Given the description of an element on the screen output the (x, y) to click on. 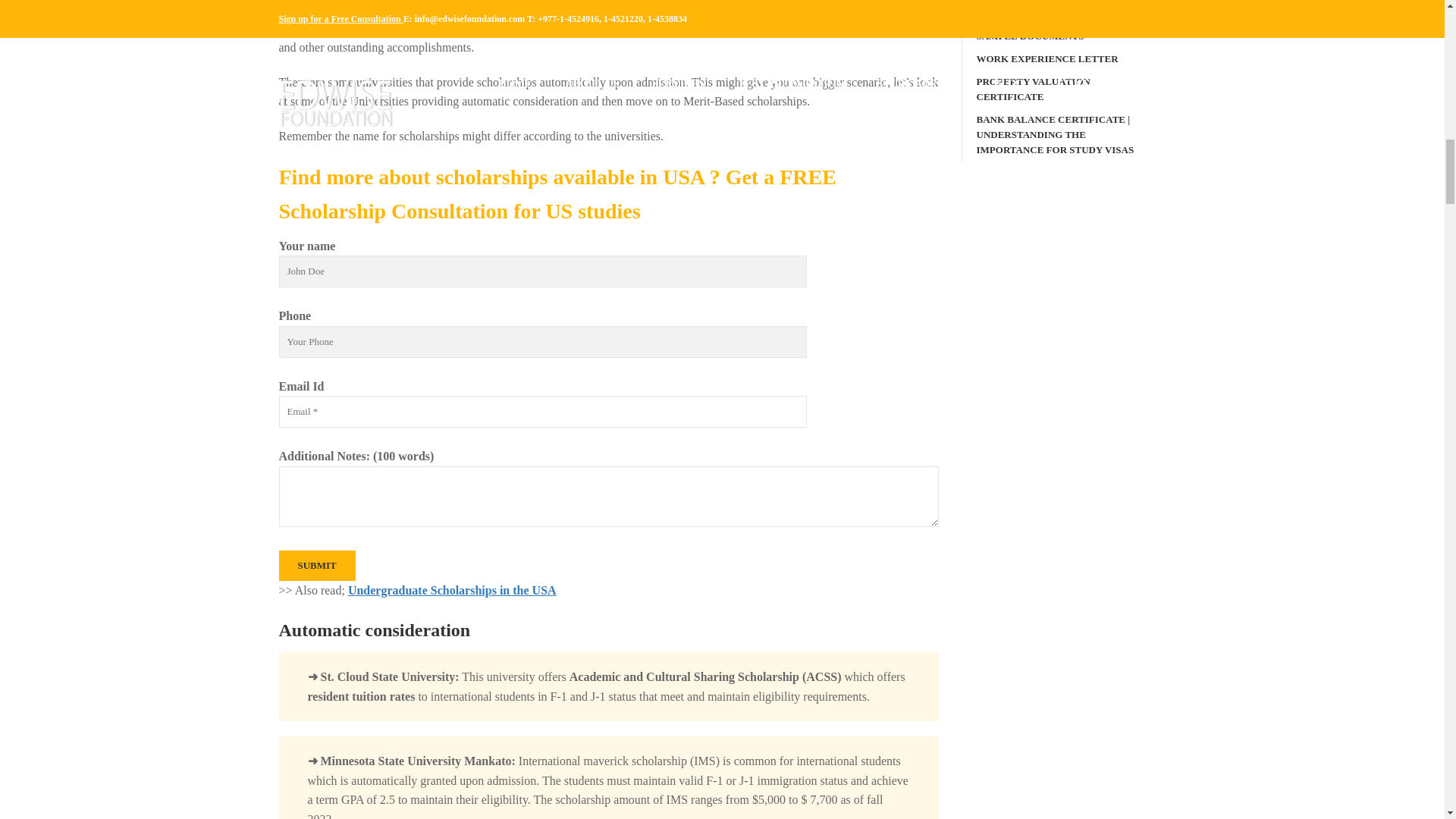
Submit (317, 565)
